Given the description of an element on the screen output the (x, y) to click on. 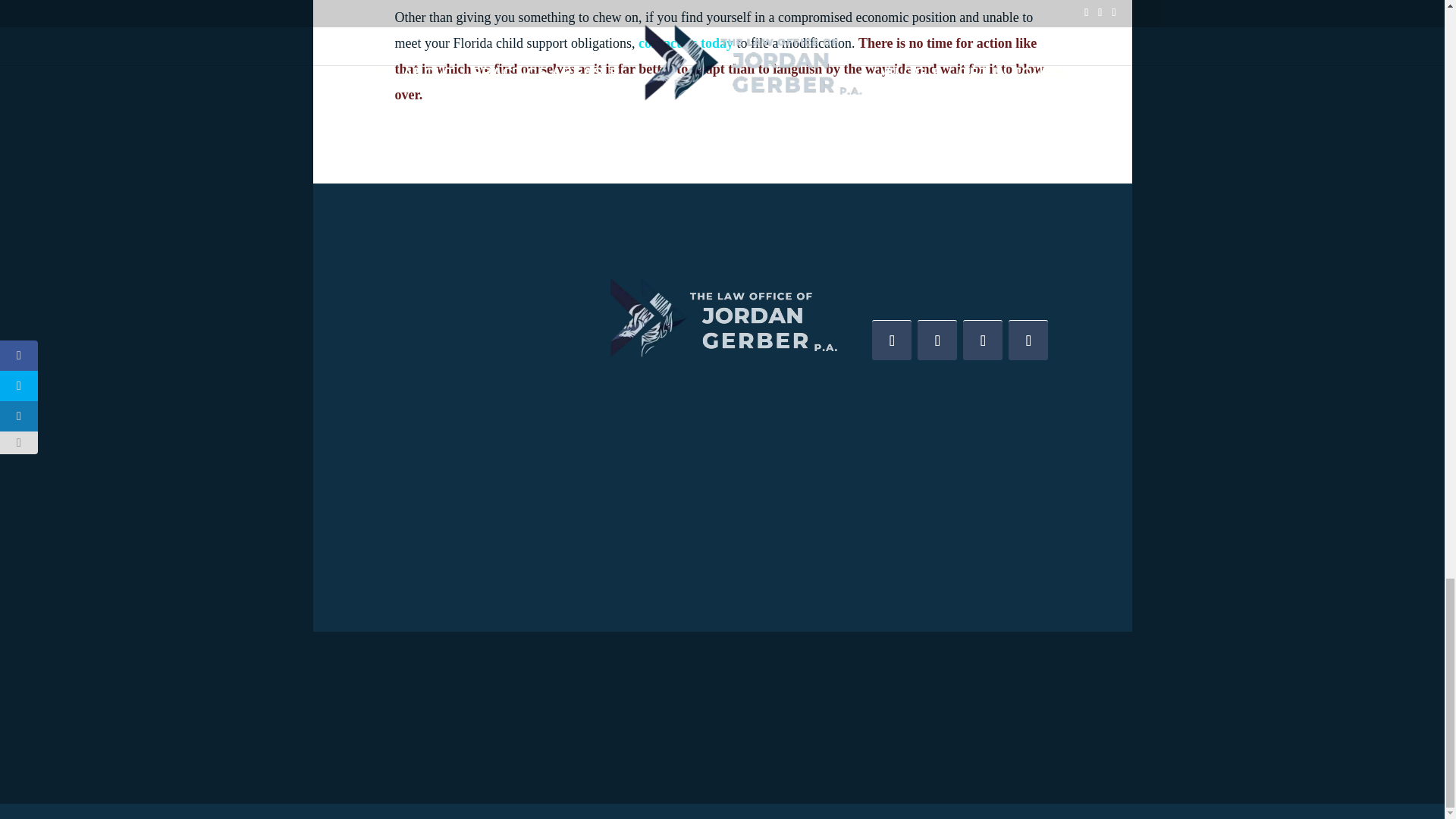
Follow on Instagram (1028, 340)
Follow on X (936, 340)
Follow on Facebook (891, 340)
Follow on LinkedIn (982, 340)
